Given the description of an element on the screen output the (x, y) to click on. 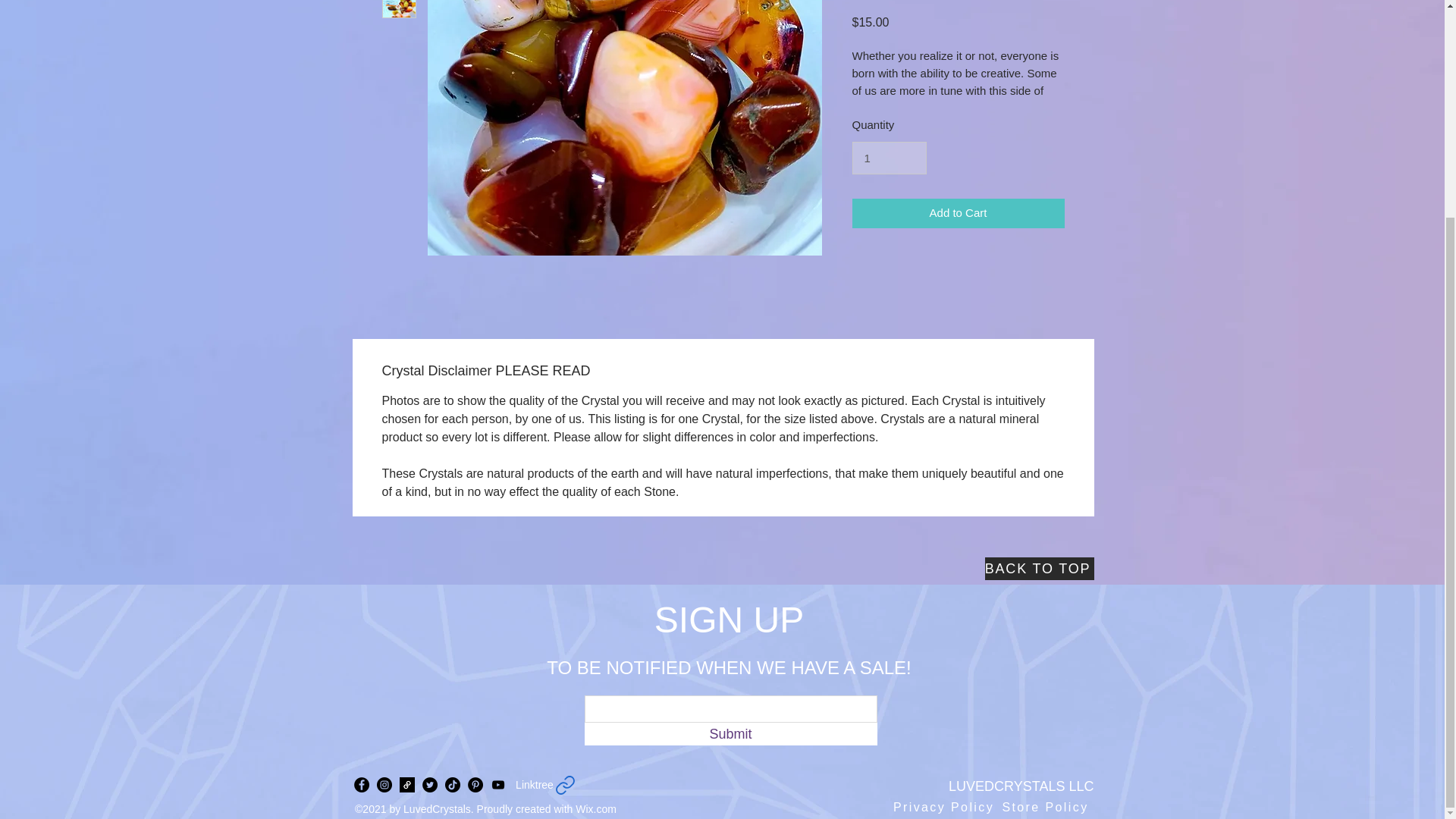
1 (888, 158)
